Given the description of an element on the screen output the (x, y) to click on. 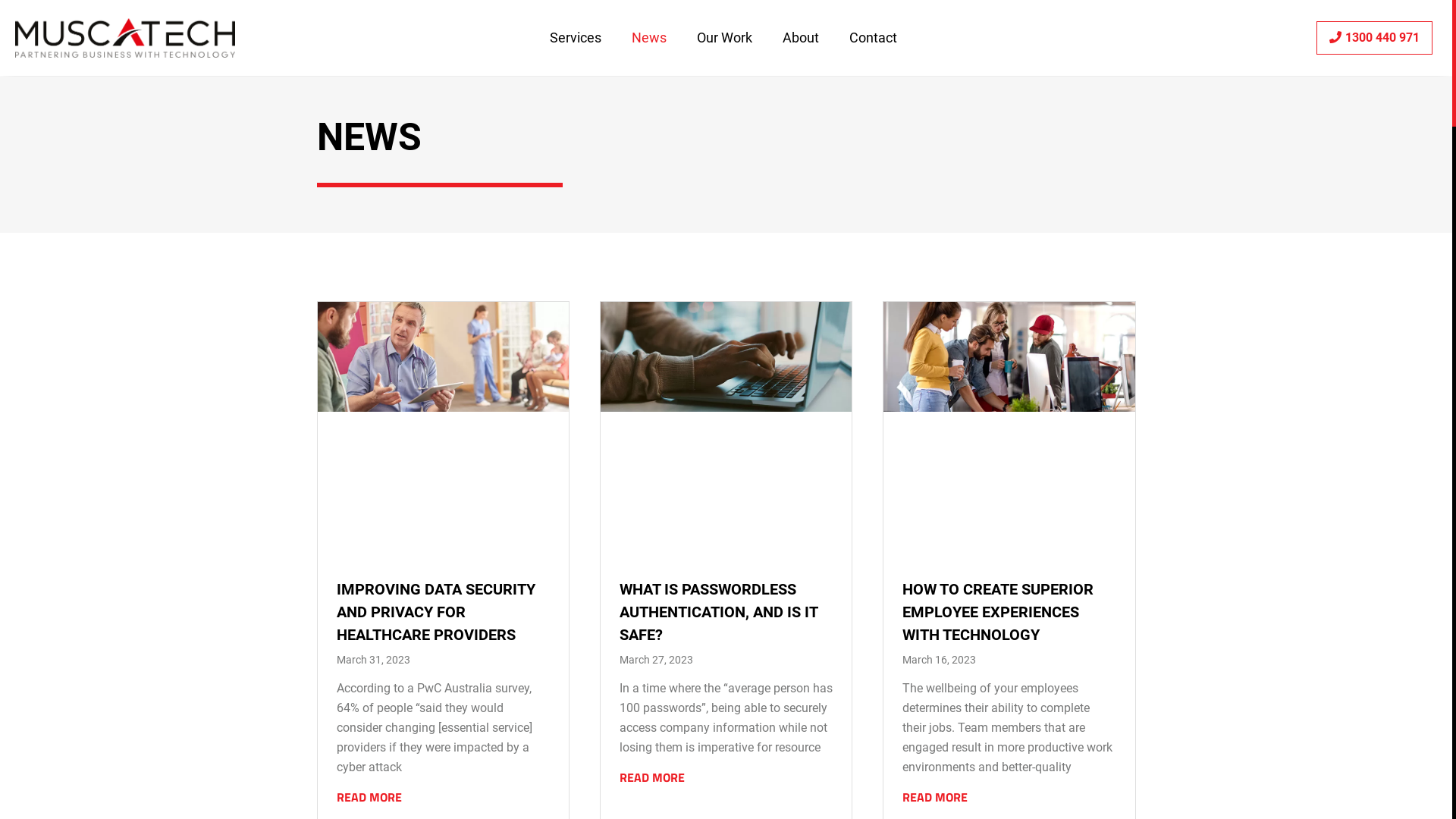
READ MORE Element type: text (368, 796)
READ MORE Element type: text (651, 777)
Our Work Element type: text (724, 37)
Contact Element type: text (873, 37)
HOW TO CREATE SUPERIOR EMPLOYEE EXPERIENCES WITH TECHNOLOGY Element type: text (997, 611)
1300 440 971 Element type: text (1374, 37)
About Element type: text (800, 37)
IMPROVING DATA SECURITY AND PRIVACY FOR HEALTHCARE PROVIDERS Element type: text (435, 611)
News Element type: text (648, 37)
WHAT IS PASSWORDLESS AUTHENTICATION, AND IS IT SAFE? Element type: text (718, 611)
Services Element type: text (575, 37)
READ MORE Element type: text (934, 796)
